Given the description of an element on the screen output the (x, y) to click on. 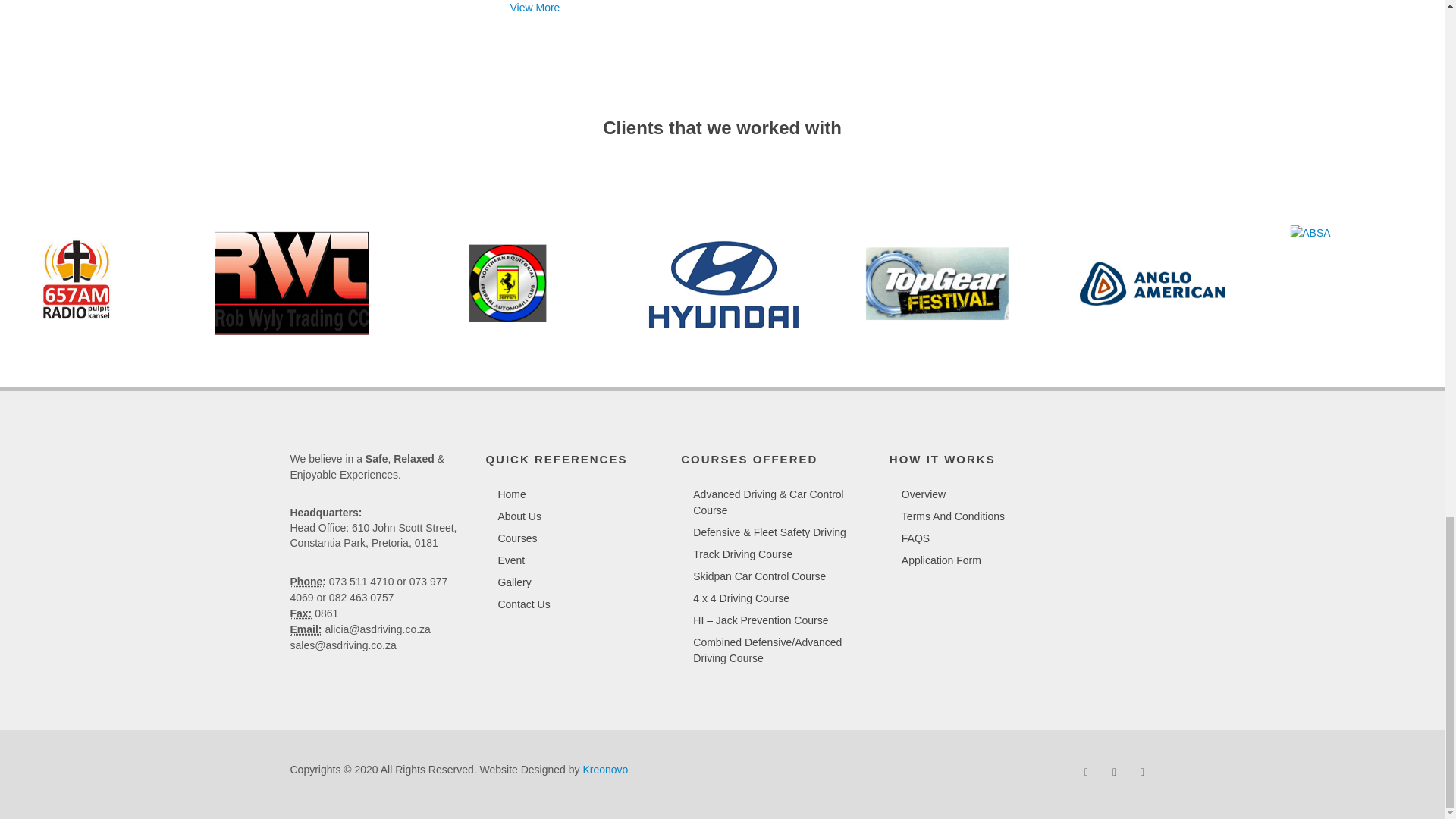
Fax (300, 613)
Phone Number (306, 581)
View More (534, 7)
Email Address (305, 629)
